Given the description of an element on the screen output the (x, y) to click on. 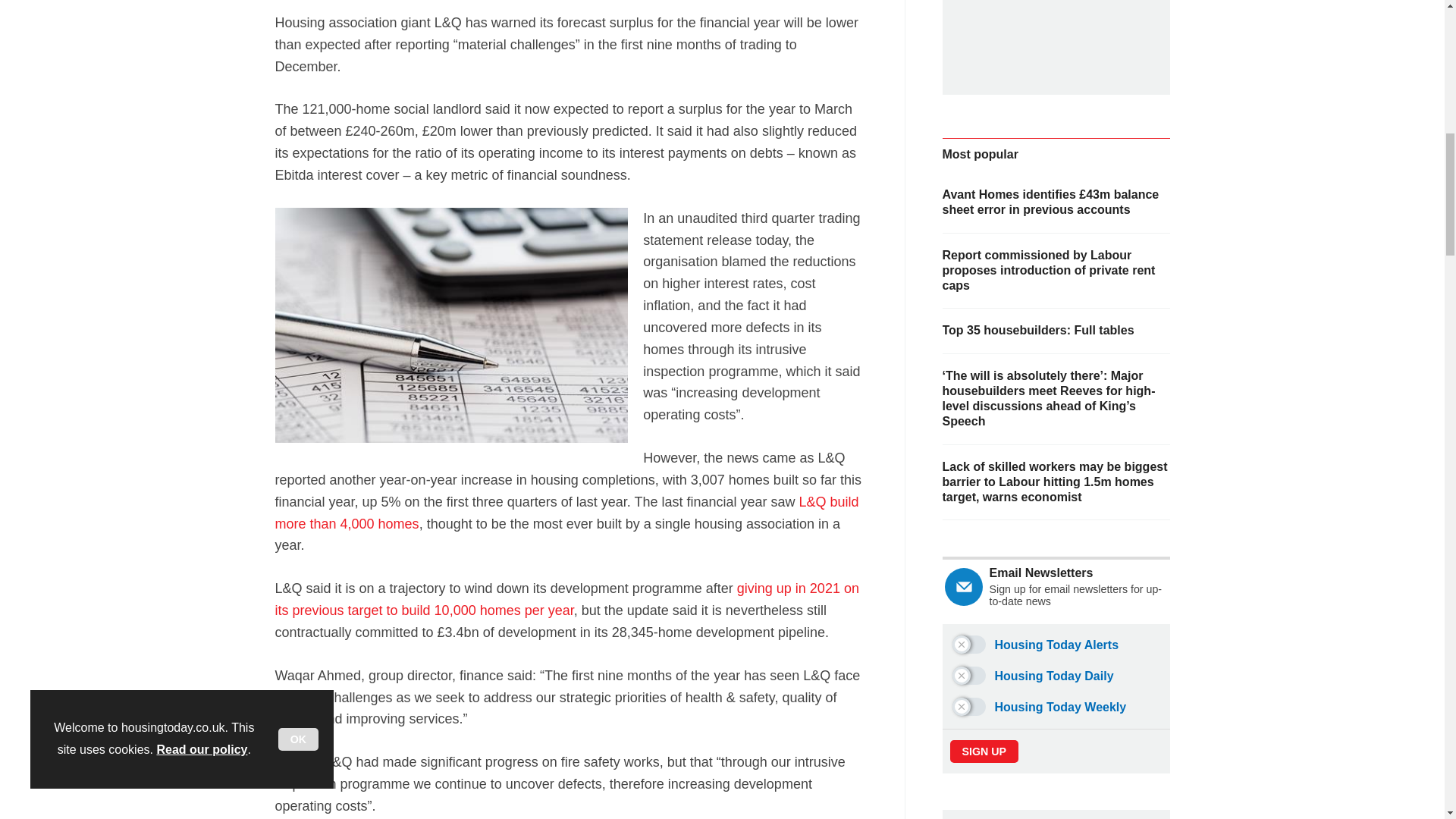
3rd party ad content (1059, 34)
